Given the description of an element on the screen output the (x, y) to click on. 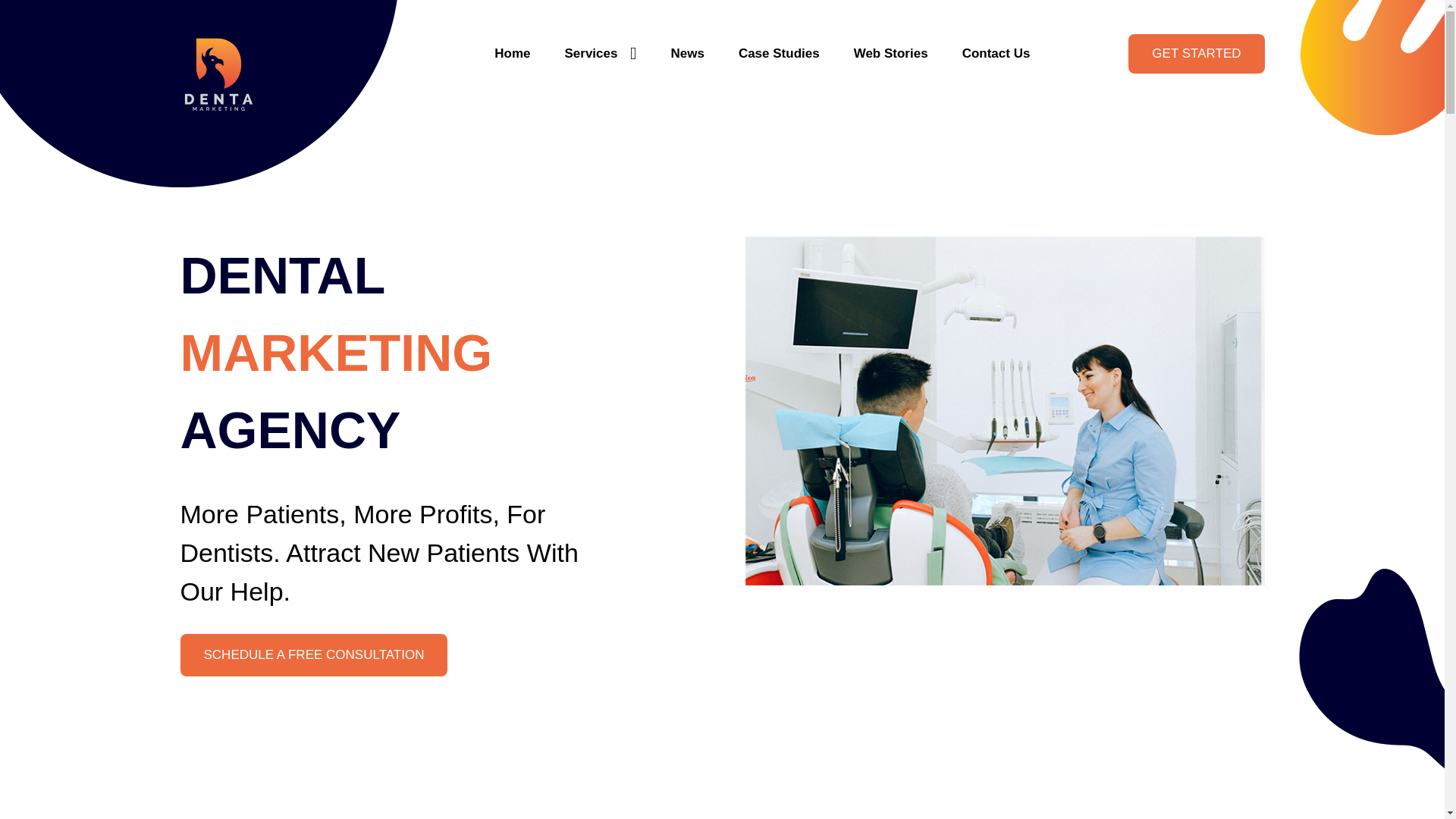
Web Stories (890, 52)
Contact Us (996, 52)
Home (512, 52)
Case Studies (778, 52)
News (686, 52)
Services (600, 52)
SCHEDULE A FREE CONSULTATION (314, 654)
GET STARTED (1195, 53)
